Given the description of an element on the screen output the (x, y) to click on. 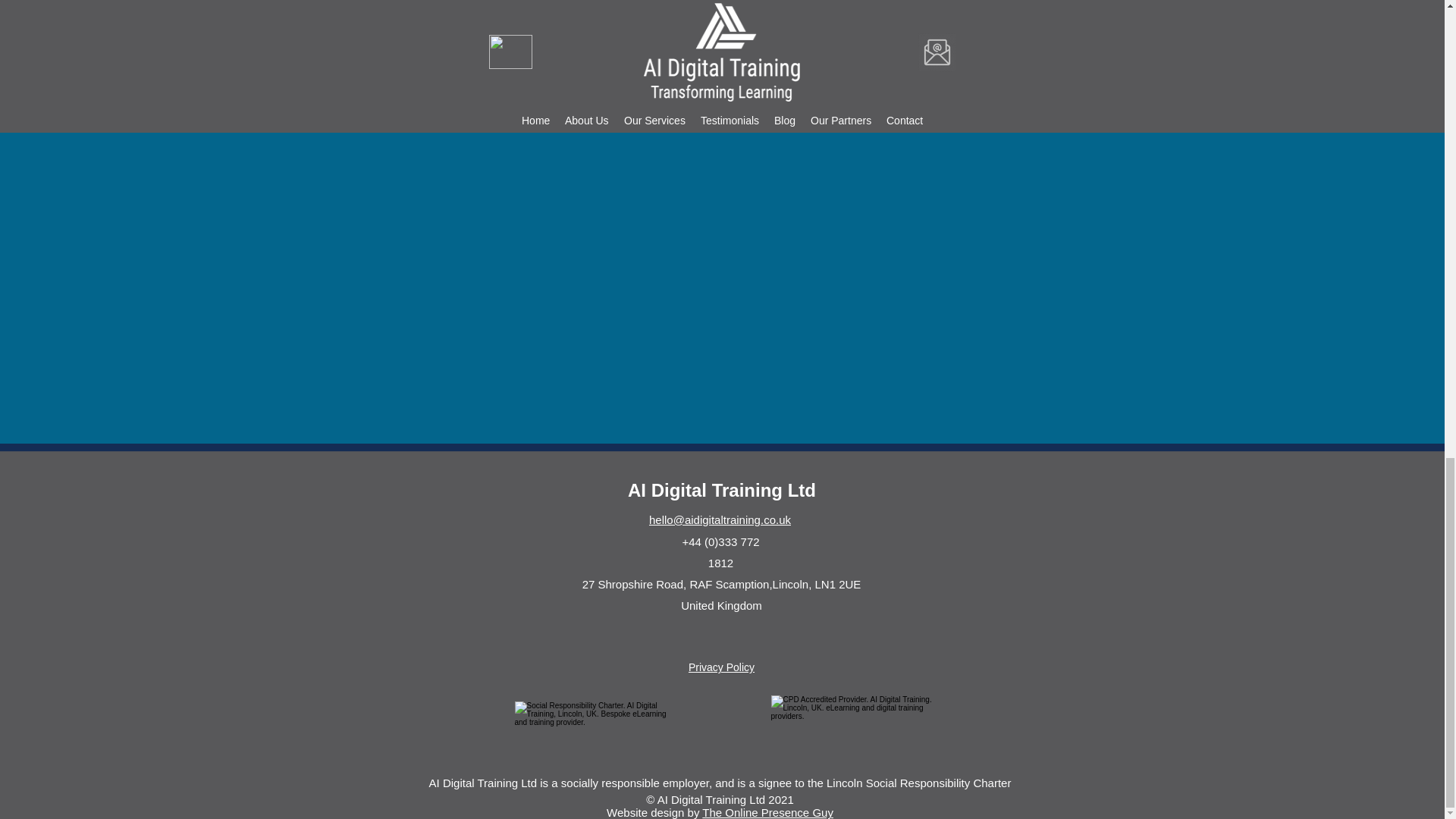
Privacy Policy (721, 666)
